Given the description of an element on the screen output the (x, y) to click on. 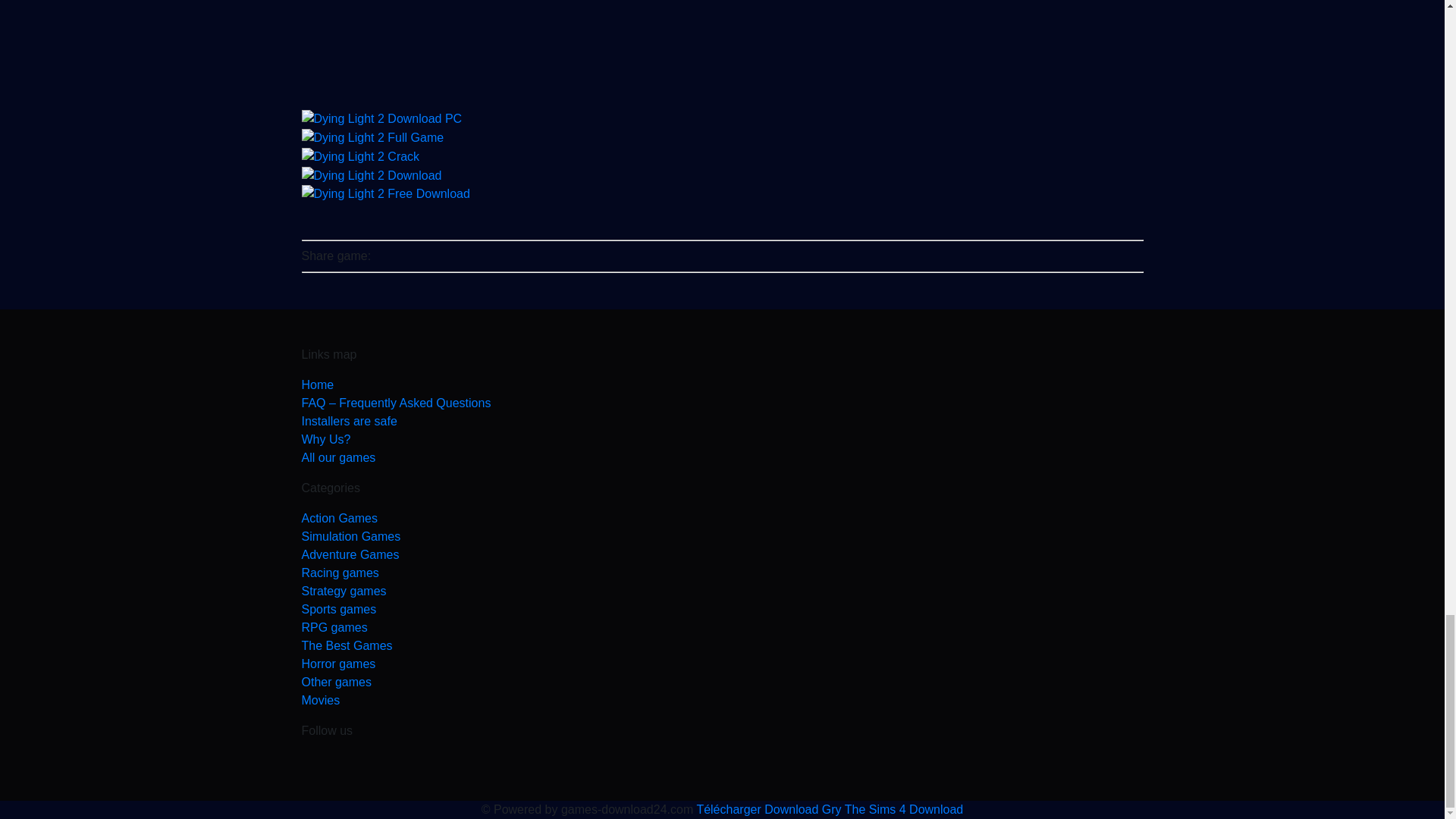
Simulation Games (721, 536)
Adventure Games (721, 555)
RPG games (721, 628)
Installers are safe (721, 421)
Home (721, 384)
Racing games (721, 573)
YouTube video player (721, 46)
Why Us? (721, 439)
Sports games (721, 609)
Action Games (721, 518)
All our games (721, 457)
Strategy games (721, 591)
